Given the description of an element on the screen output the (x, y) to click on. 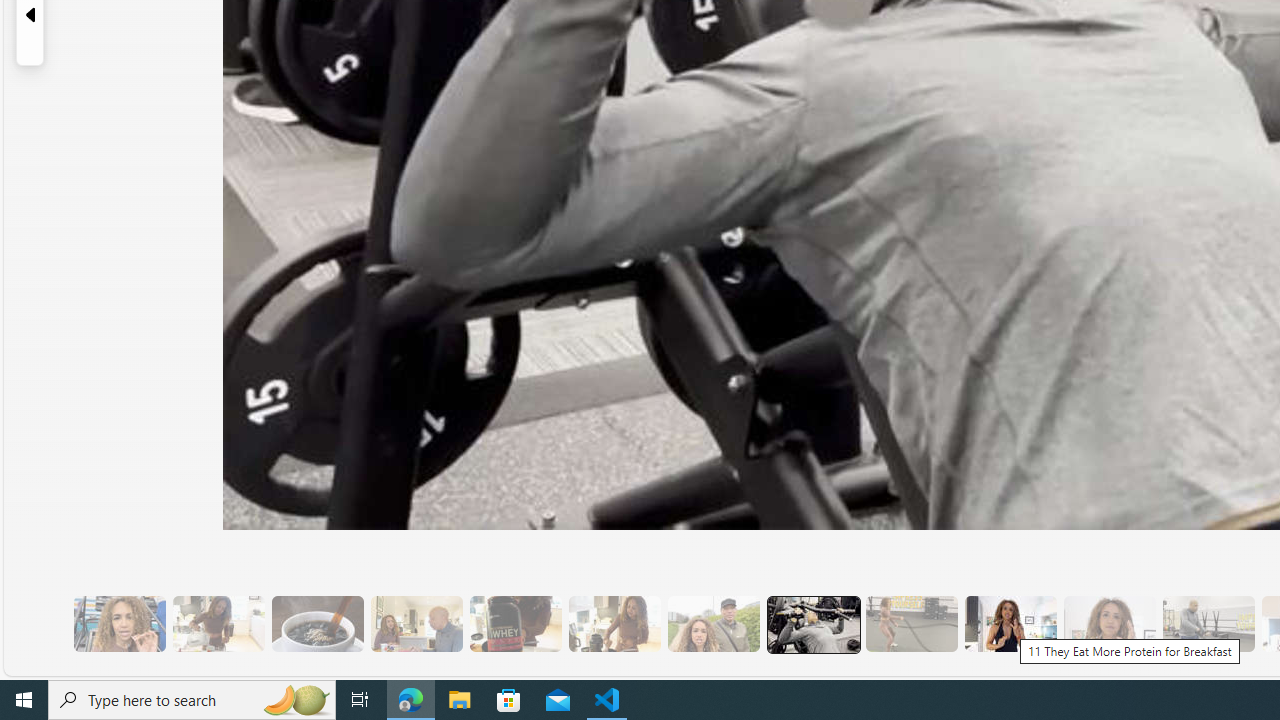
13 Her Husband Does Group Cardio Classs (1208, 624)
3 They Drink Lemon Tea (217, 624)
8 Be Mindful of Coffee (317, 624)
9 They Do Bench Exercises (813, 624)
9 They Do Bench Exercises (811, 624)
11 They Eat More Protein for Breakfast (1010, 624)
7 They Don't Skip Meals (614, 624)
2 They Use Protein Powder for Flavor (119, 624)
10 Then, They Do HIIT Cardio (911, 624)
5 She Eats Less Than Her Husband (416, 624)
